Given the description of an element on the screen output the (x, y) to click on. 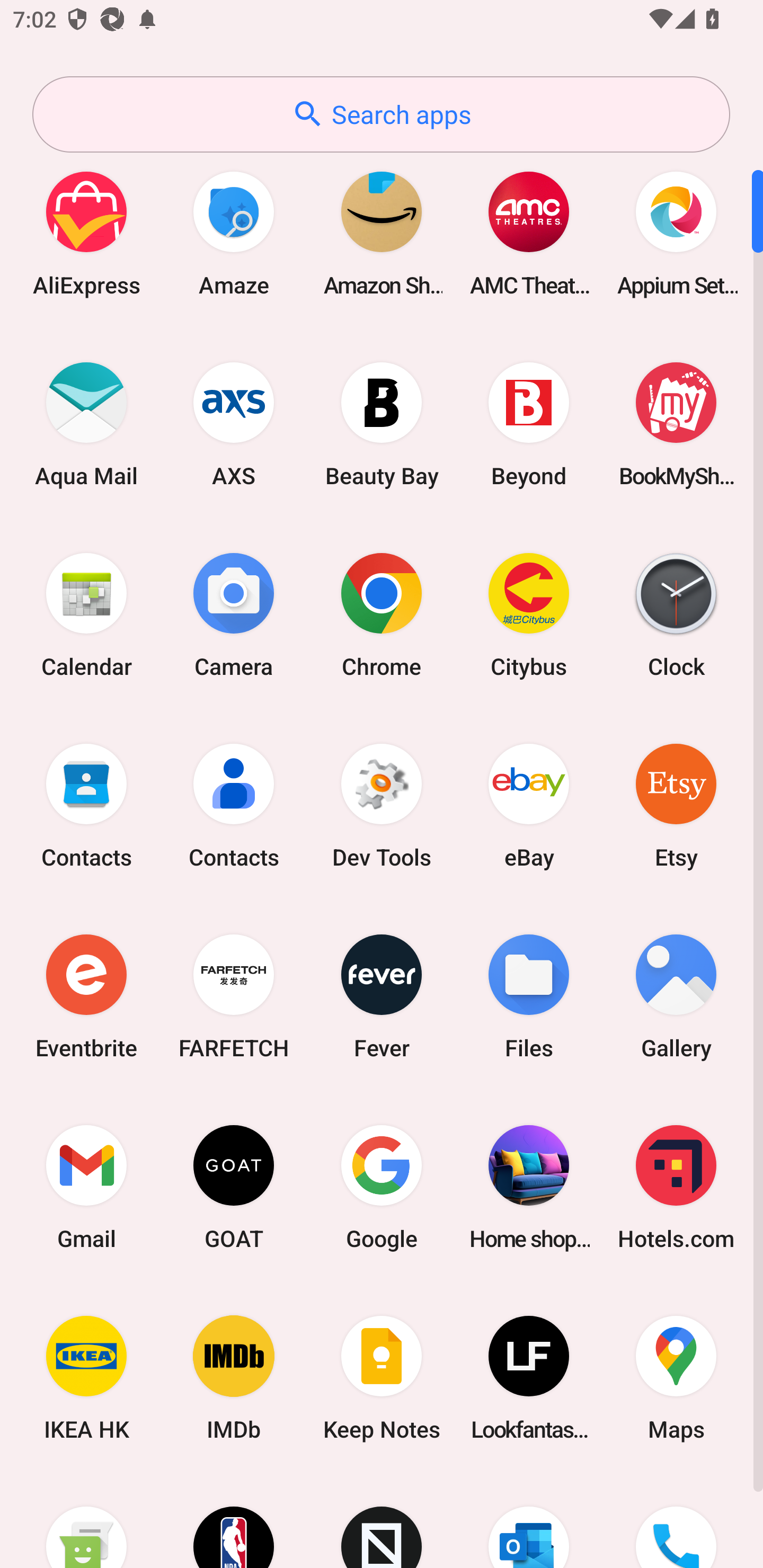
  Search apps (381, 114)
AliExpress (86, 233)
Amaze (233, 233)
Amazon Shopping (381, 233)
AMC Theatres (528, 233)
Appium Settings (676, 233)
Aqua Mail (86, 424)
AXS (233, 424)
Beauty Bay (381, 424)
Beyond (528, 424)
BookMyShow (676, 424)
Calendar (86, 614)
Camera (233, 614)
Chrome (381, 614)
Citybus (528, 614)
Clock (676, 614)
Contacts (86, 805)
Contacts (233, 805)
Dev Tools (381, 805)
eBay (528, 805)
Etsy (676, 805)
Eventbrite (86, 996)
FARFETCH (233, 996)
Fever (381, 996)
Files (528, 996)
Gallery (676, 996)
Gmail (86, 1186)
GOAT (233, 1186)
Google (381, 1186)
Home shopping (528, 1186)
Hotels.com (676, 1186)
IKEA HK (86, 1377)
IMDb (233, 1377)
Keep Notes (381, 1377)
Lookfantastic (528, 1377)
Maps (676, 1377)
